Given the description of an element on the screen output the (x, y) to click on. 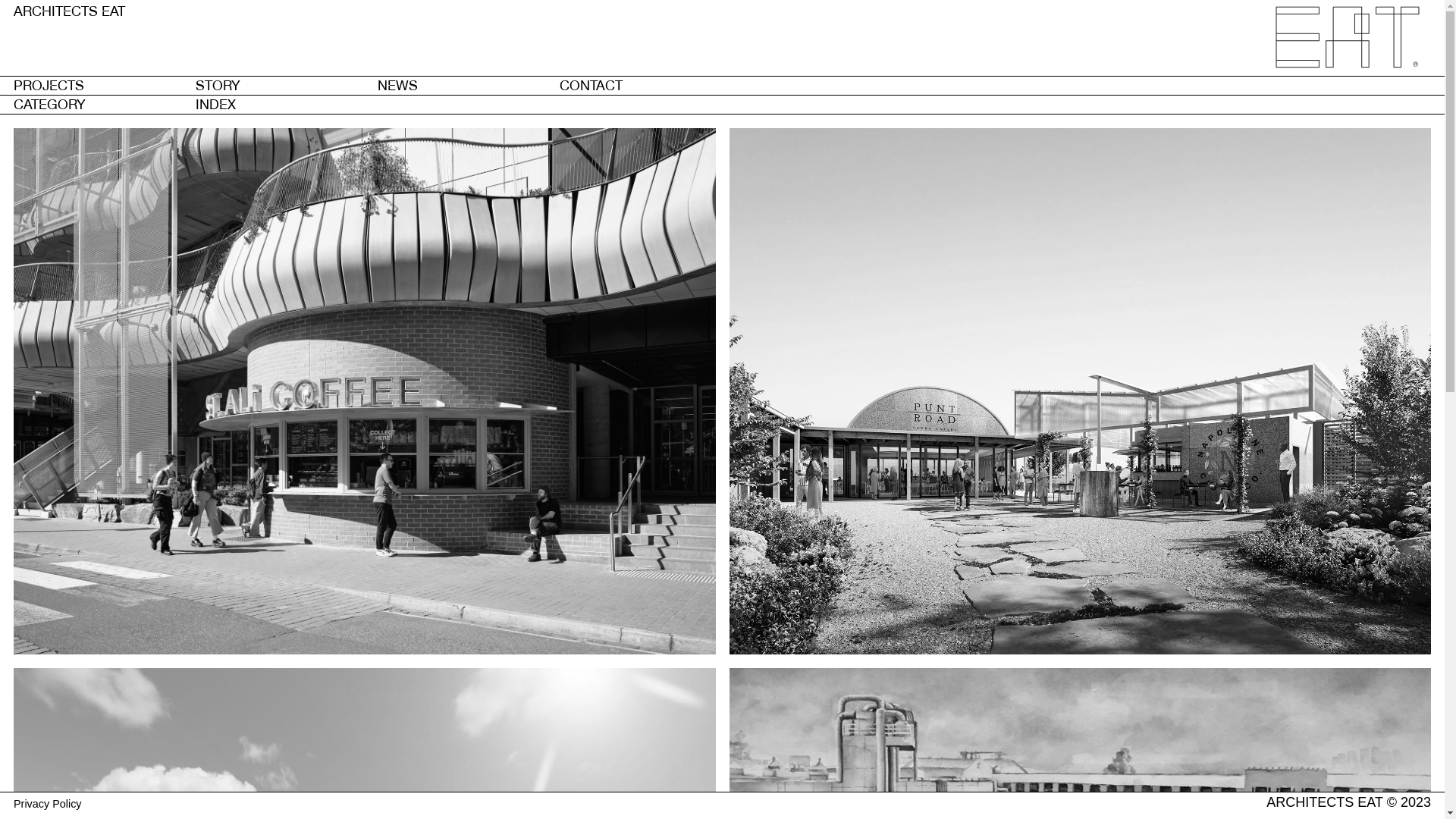
CONTACT Element type: text (590, 84)
NEWS Element type: text (397, 84)
Privacy Policy Element type: text (47, 803)
CATEGORY Element type: text (49, 103)
ARCHITECTS EAT Element type: text (69, 10)
STORY Element type: text (217, 84)
INDEX Element type: text (215, 103)
PROJECTS Element type: text (48, 84)
